Given the description of an element on the screen output the (x, y) to click on. 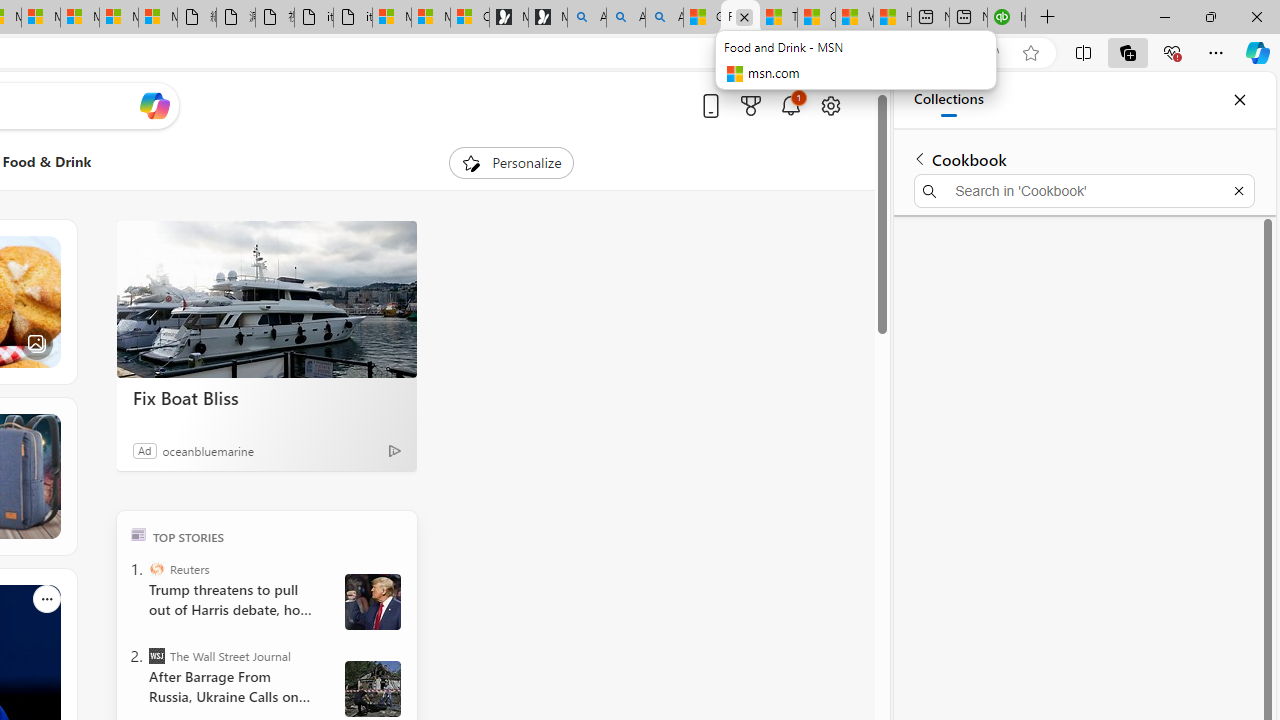
Consumer Health Data Privacy Policy (469, 17)
CNN - MSN (815, 17)
